Given the description of an element on the screen output the (x, y) to click on. 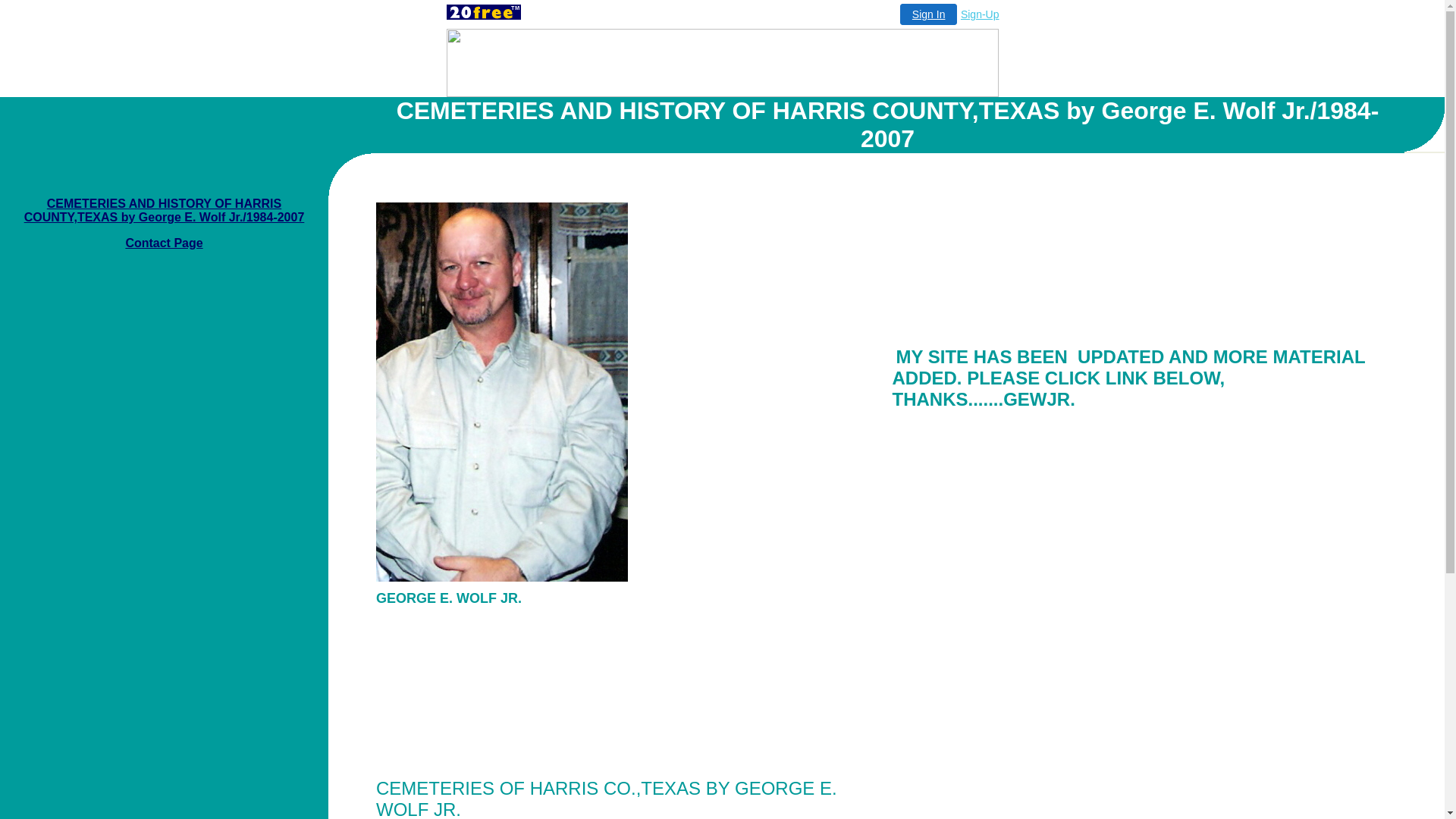
Contact Page Element type: text (163, 242)
Sign In Element type: text (928, 14)
Sign-Up Element type: text (979, 14)
